Given the description of an element on the screen output the (x, y) to click on. 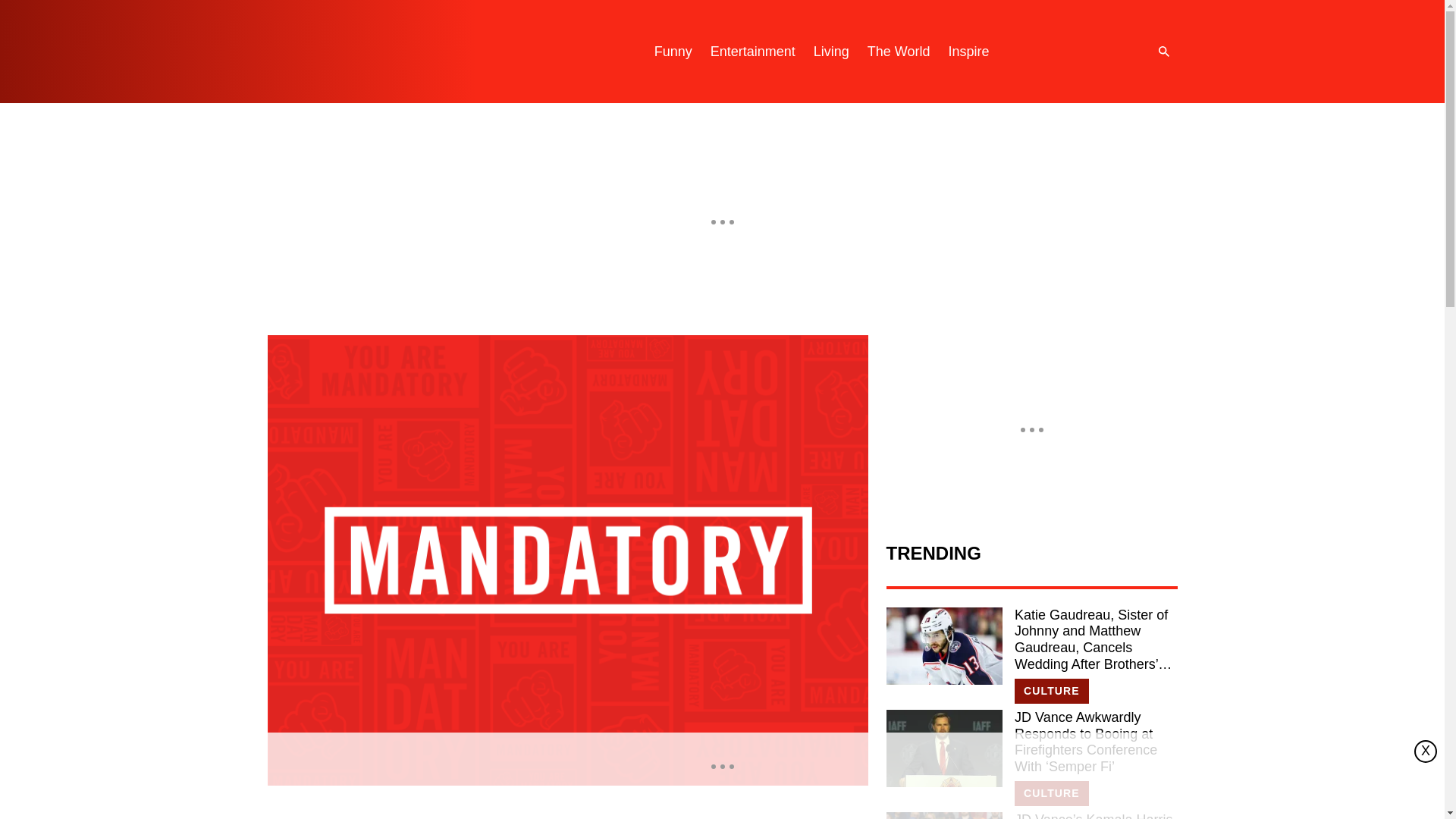
Inspire (968, 51)
Facebook (1109, 51)
Living (832, 51)
CULTURE (1051, 690)
Twitter (1079, 51)
Entertainment (753, 51)
Funny (673, 51)
The World (899, 51)
CULTURE (1051, 793)
Instagram (1048, 51)
